Given the description of an element on the screen output the (x, y) to click on. 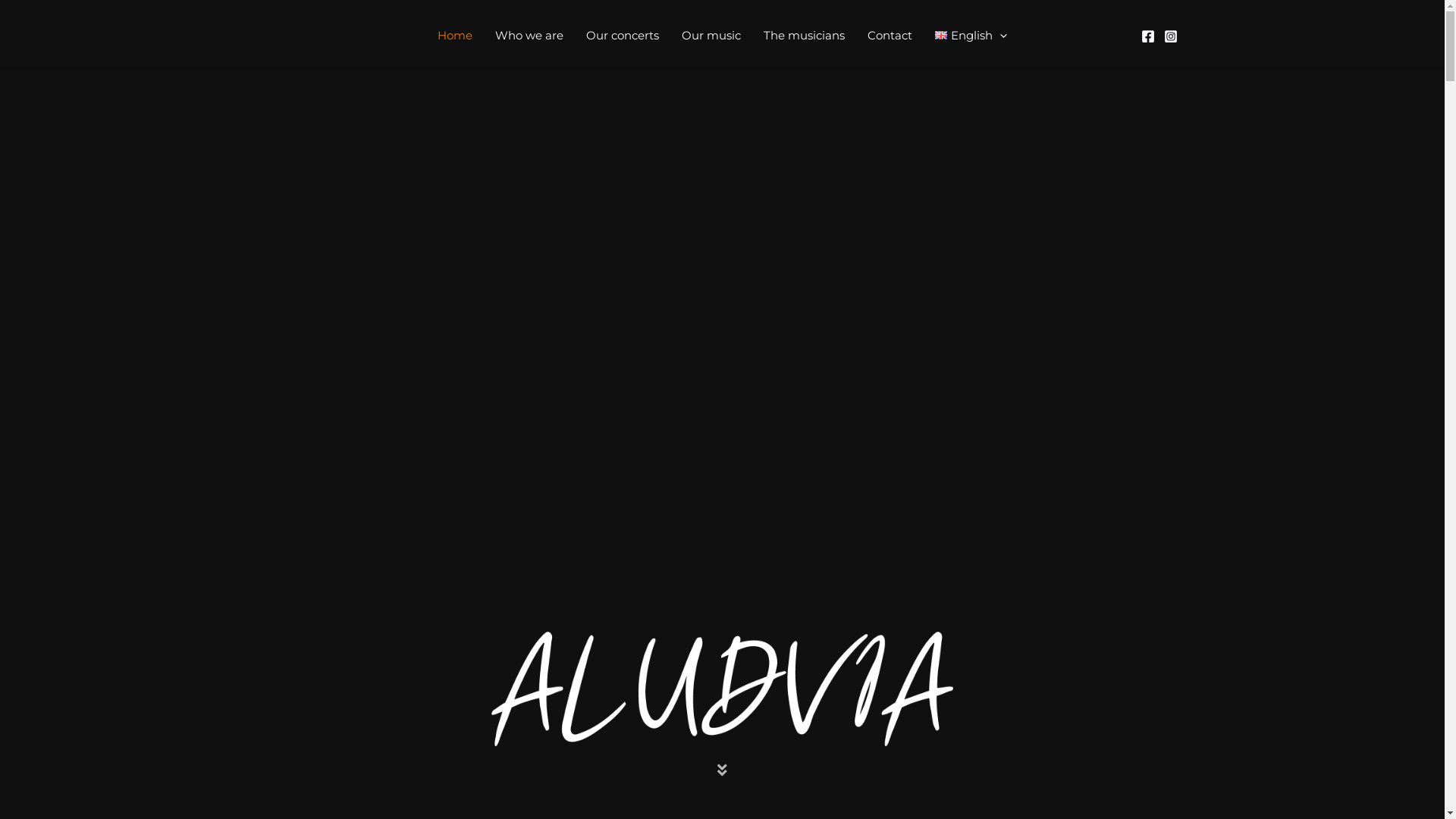
The musicians Element type: text (804, 35)
Our concerts Element type: text (622, 35)
Home Element type: text (454, 35)
Contact Element type: text (889, 35)
Our music Element type: text (711, 35)
Who we are Element type: text (528, 35)
English Element type: text (970, 35)
